Given the description of an element on the screen output the (x, y) to click on. 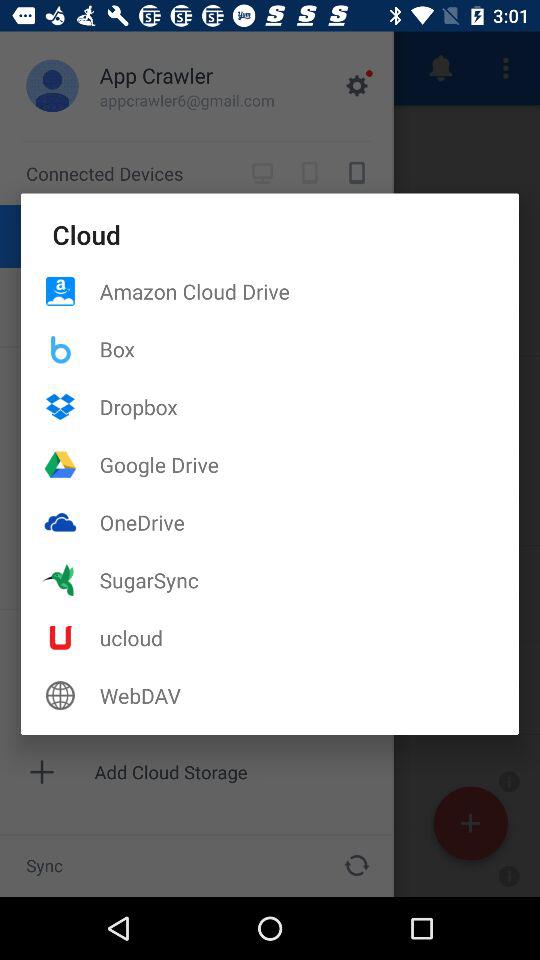
open icon above the google drive (309, 406)
